Given the description of an element on the screen output the (x, y) to click on. 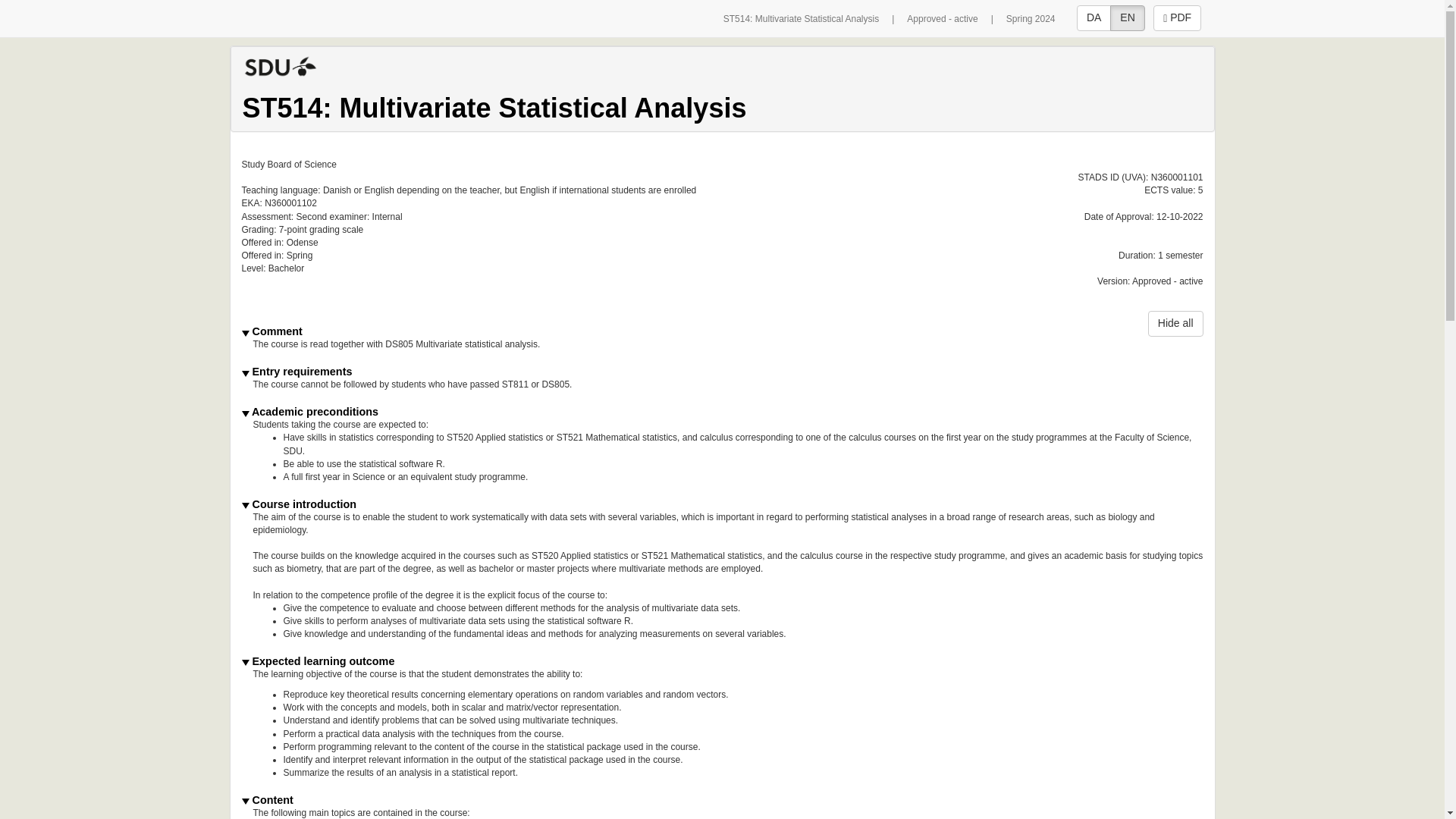
PDF (1177, 17)
Hide all (1176, 323)
DA (1093, 17)
EN (1126, 17)
